Given the description of an element on the screen output the (x, y) to click on. 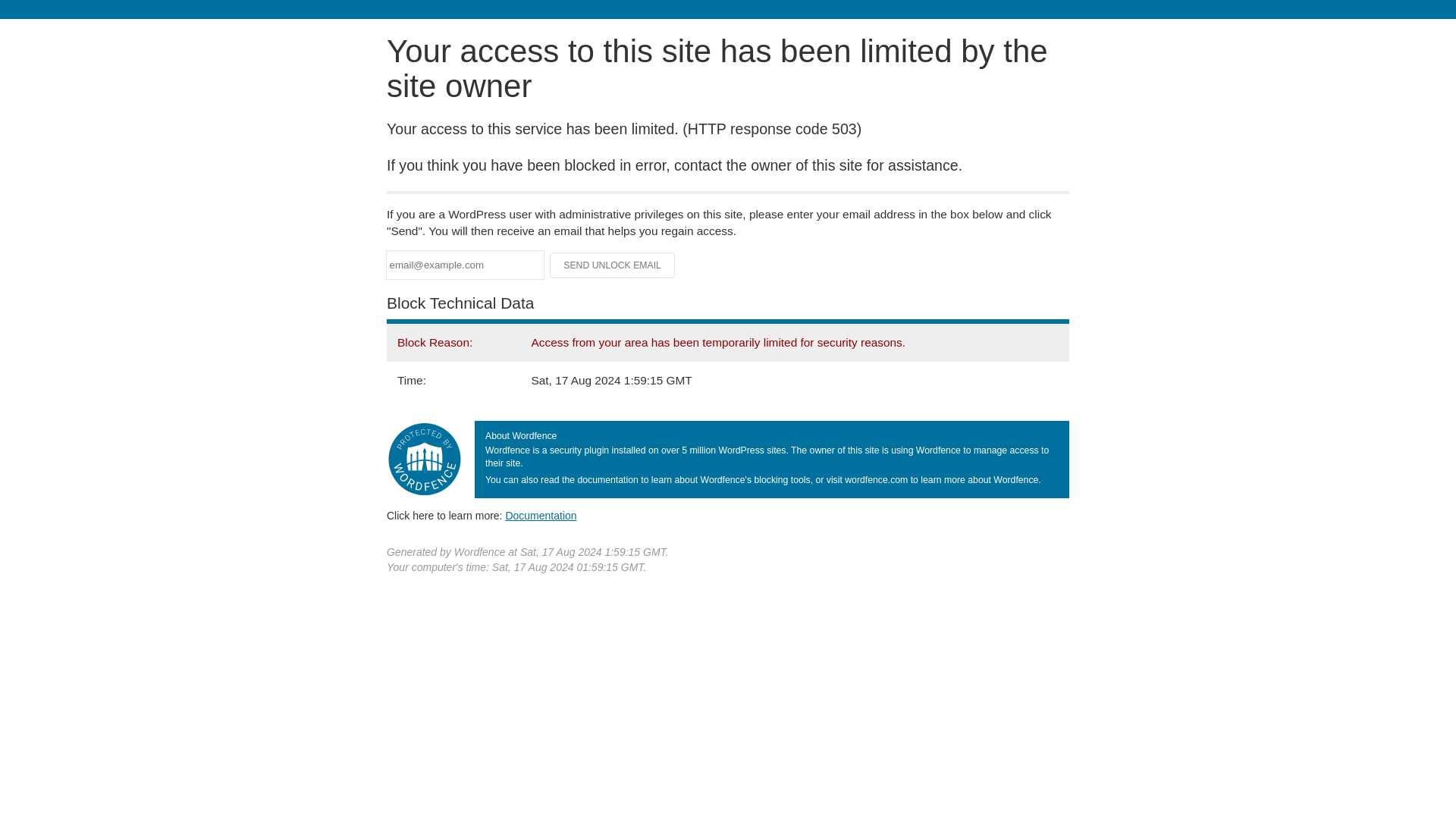
Send Unlock Email (612, 265)
Documentation (540, 515)
Send Unlock Email (612, 265)
